Given the description of an element on the screen output the (x, y) to click on. 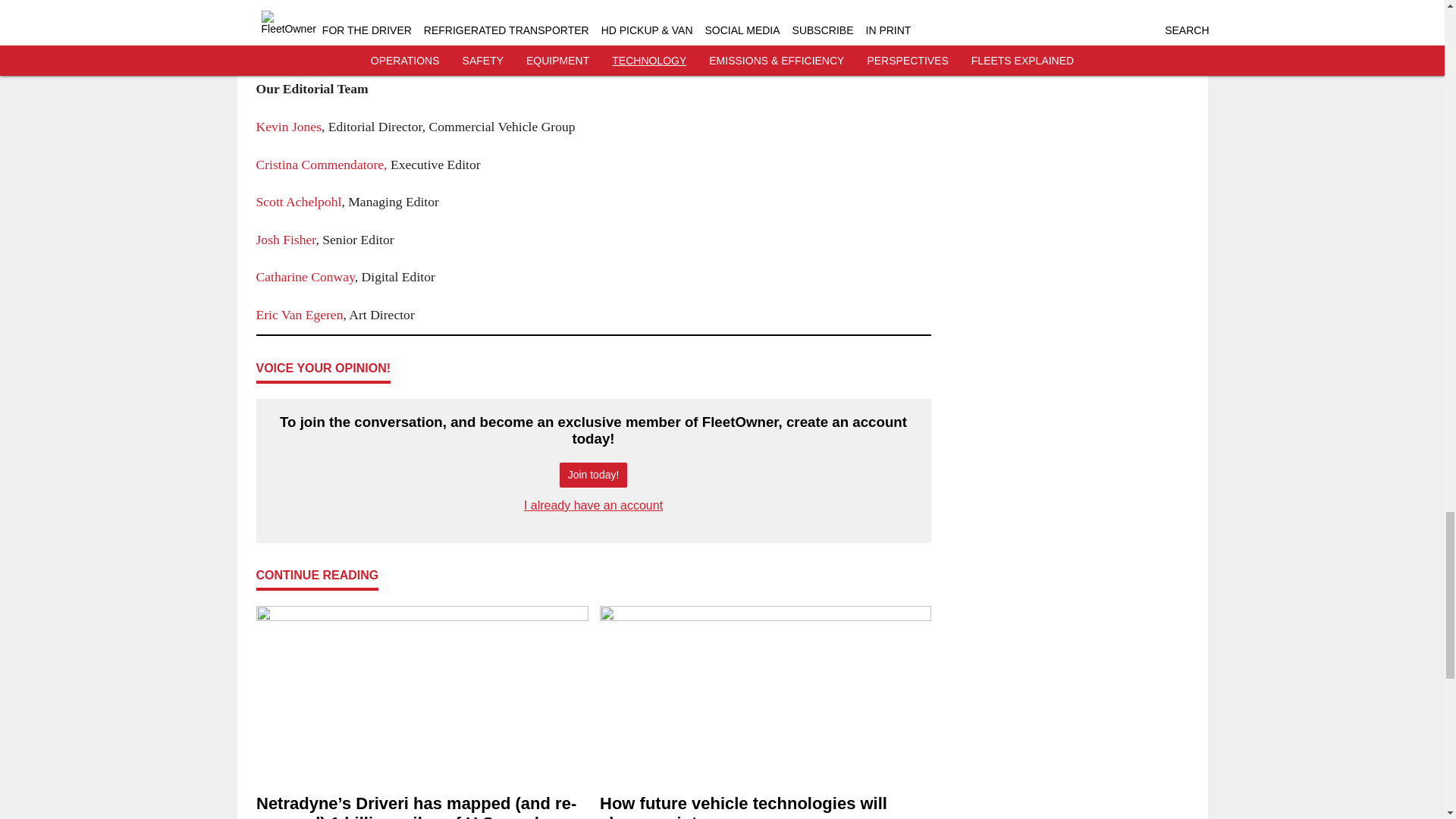
Cristina Commendatore, (321, 164)
Eric Van Egeren (299, 314)
Catharine Conway (305, 276)
How future vehicle technologies will shape maintenance (764, 806)
Scott Achelpohl (299, 201)
Kevin Jones (288, 126)
I already have an account (593, 504)
Josh Fisher (285, 239)
Join today! (593, 474)
